Given the description of an element on the screen output the (x, y) to click on. 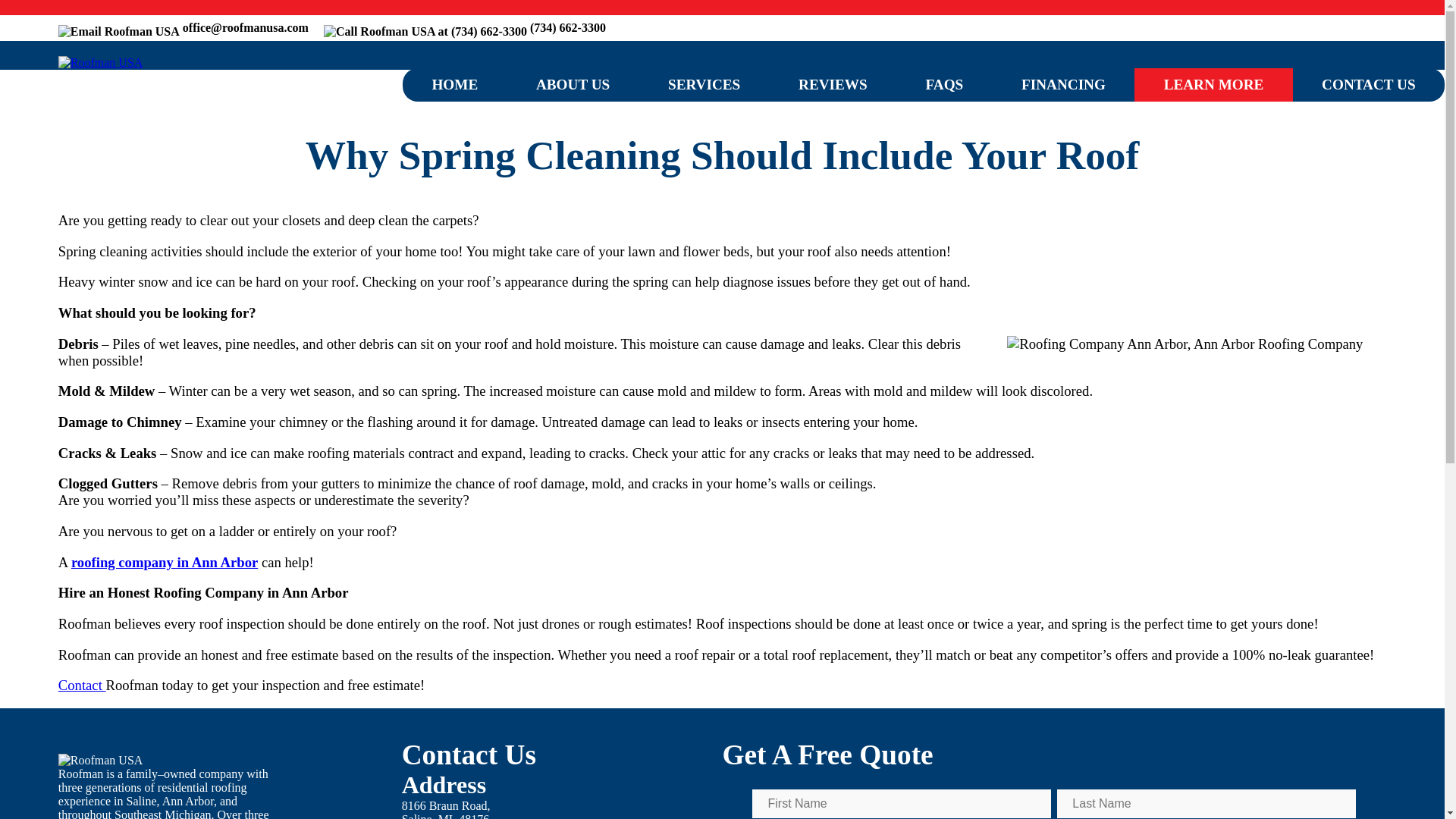
Contact (82, 684)
REVIEWS (833, 84)
LEARN MORE (1213, 84)
ABOUT US (572, 84)
SERVICES (704, 84)
roofing company in Ann Arbor (164, 562)
HOME (445, 809)
FINANCING (454, 84)
FAQS (1063, 84)
